Given the description of an element on the screen output the (x, y) to click on. 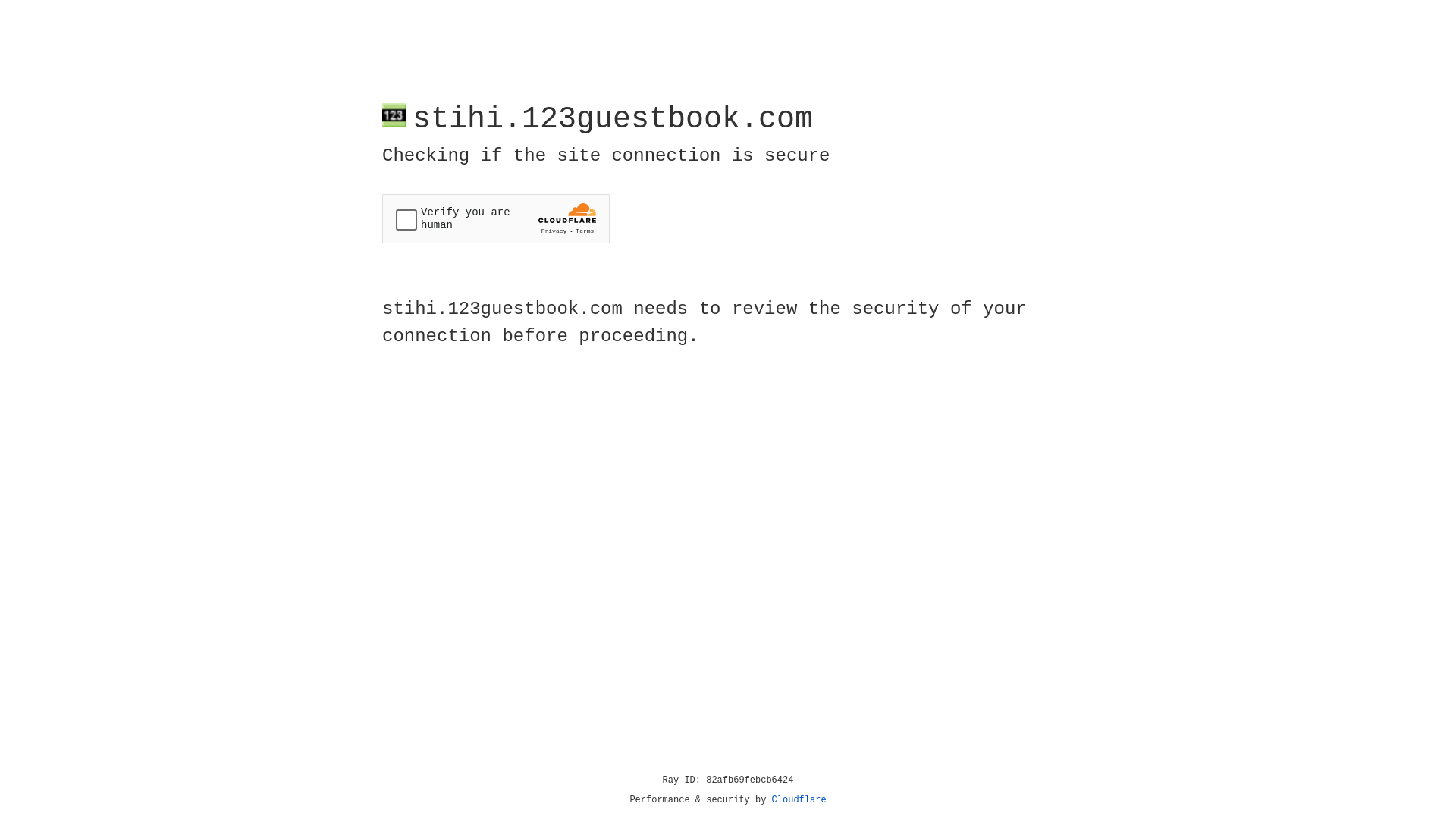
Widget containing a Cloudflare security challenge Element type: hover (495, 218)
Cloudflare Element type: text (798, 799)
